Given the description of an element on the screen output the (x, y) to click on. 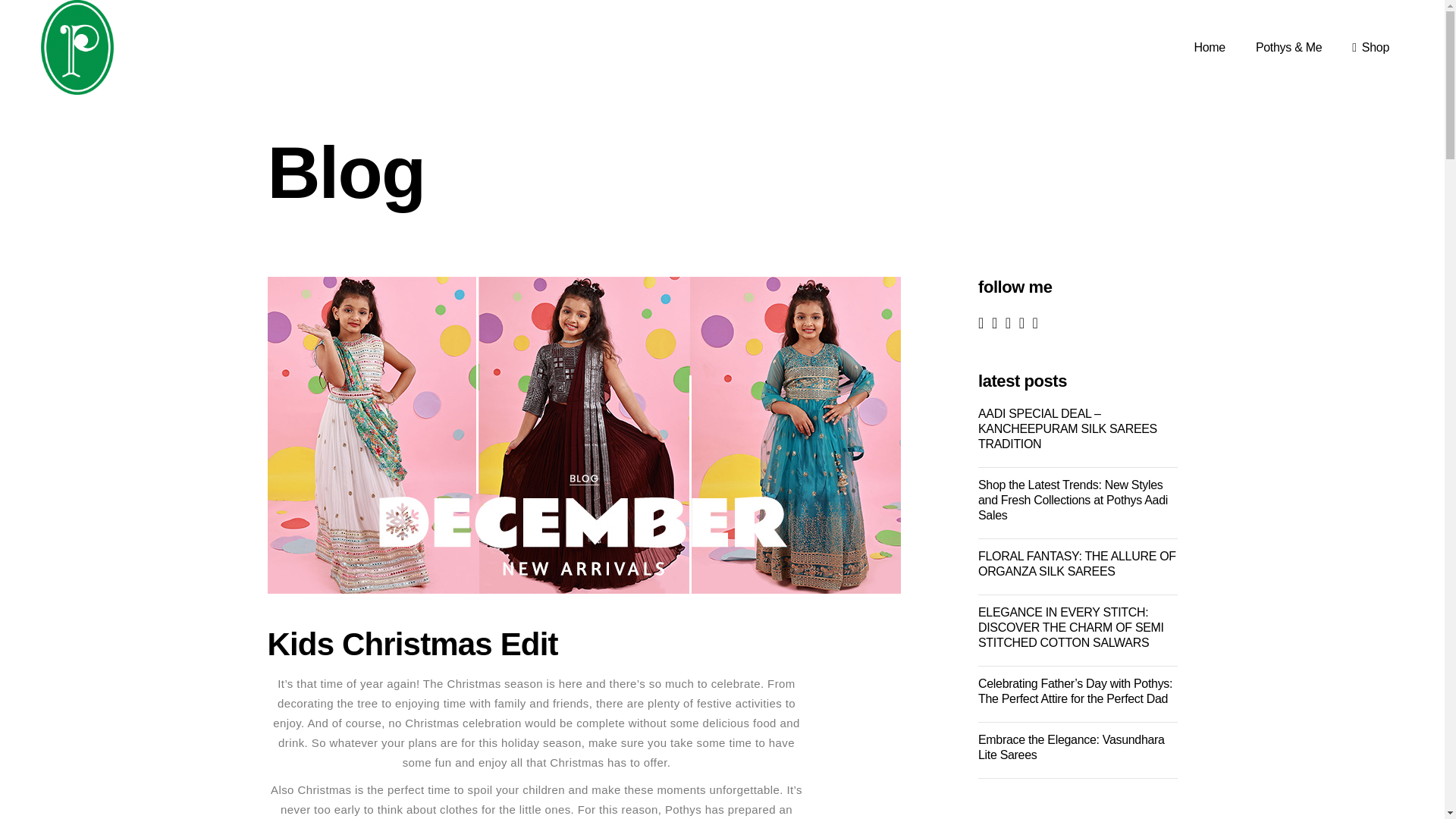
Home (1208, 47)
Shop (1370, 47)
